Given the description of an element on the screen output the (x, y) to click on. 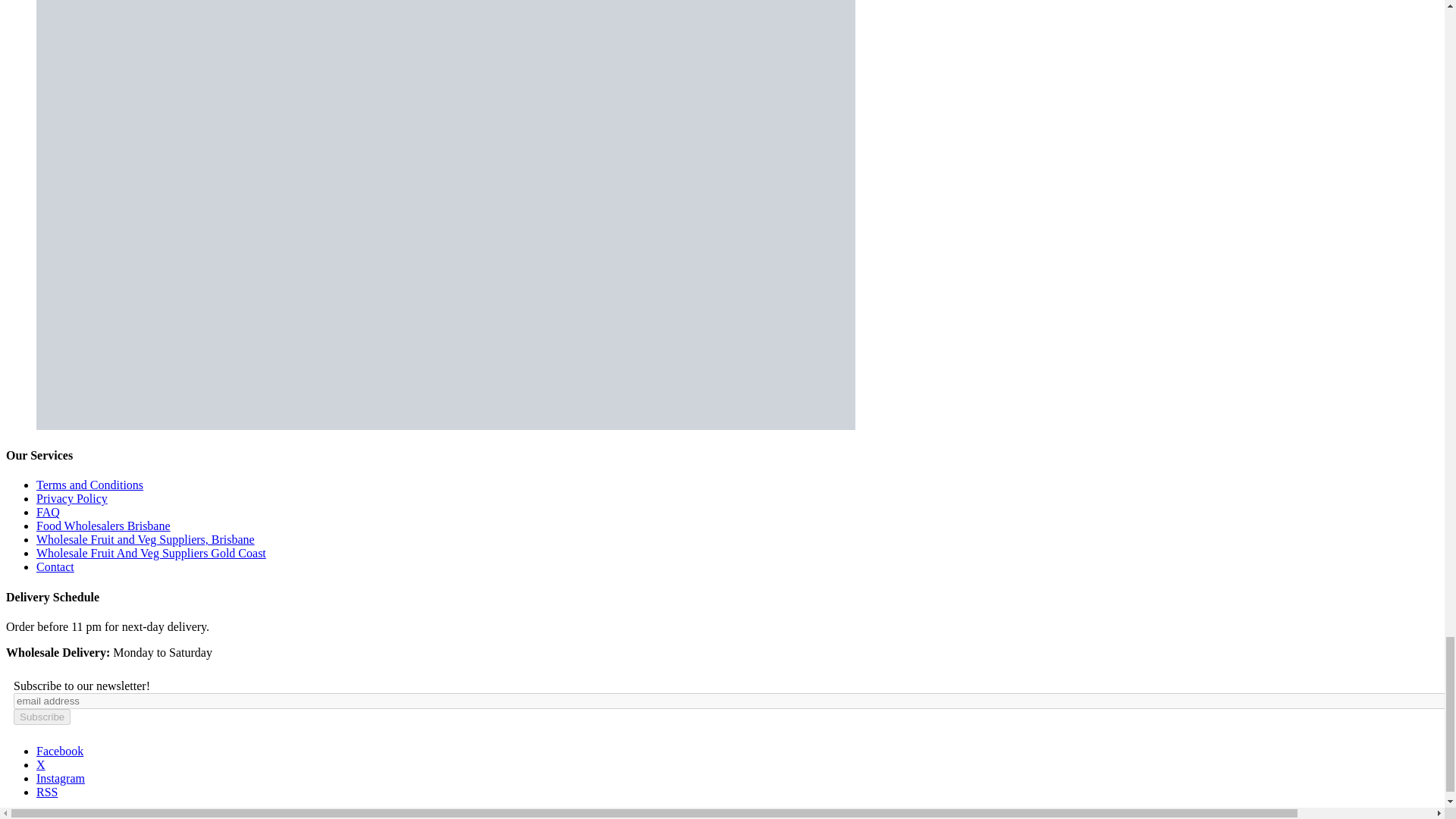
FAQ (47, 512)
Wholesale Fruit And Veg Suppliers Gold Coast (151, 553)
Subscribe (41, 716)
Privacy Policy (71, 498)
Instagram (60, 778)
RSS (47, 791)
Wholesale Fruit and Veg Suppliers, Brisbane (145, 539)
Terms and Conditions (89, 484)
Facebook (59, 750)
Contact (55, 566)
